Given the description of an element on the screen output the (x, y) to click on. 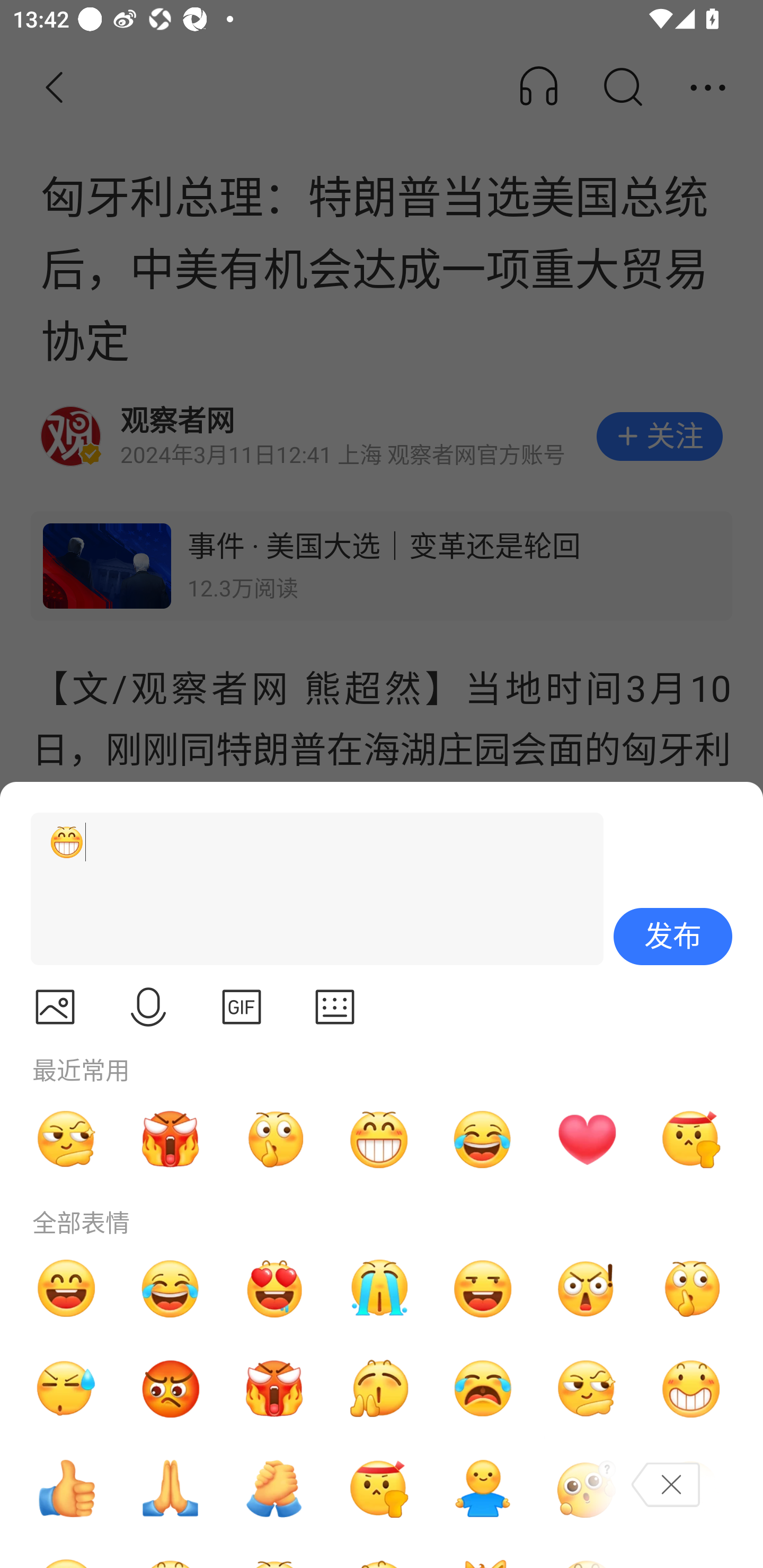
[呲牙] (308, 888)
发布 (672, 936)
 (54, 1007)
 (148, 1007)
 (241, 1007)
 (334, 1007)
机智 (66, 1138)
愤怒 (170, 1138)
嘘 (274, 1138)
呲牙 (378, 1138)
哭笑 (482, 1138)
心 (586, 1138)
奋斗 (690, 1138)
哈哈 (66, 1288)
哭笑 (170, 1288)
喜欢 (274, 1288)
哭 (378, 1288)
嘿嘿 (482, 1288)
吃惊 (586, 1288)
嘘 (690, 1288)
汗 (66, 1389)
生气 (170, 1389)
愤怒 (274, 1389)
喝彩 (378, 1389)
抓狂 (482, 1389)
机智 (586, 1389)
坏笑 (690, 1389)
点赞 (66, 1488)
缅怀 (170, 1488)
加油 (274, 1488)
奋斗 (378, 1488)
抱抱 (482, 1488)
疑问 (586, 1488)
捂脸 (690, 1488)
